Given the description of an element on the screen output the (x, y) to click on. 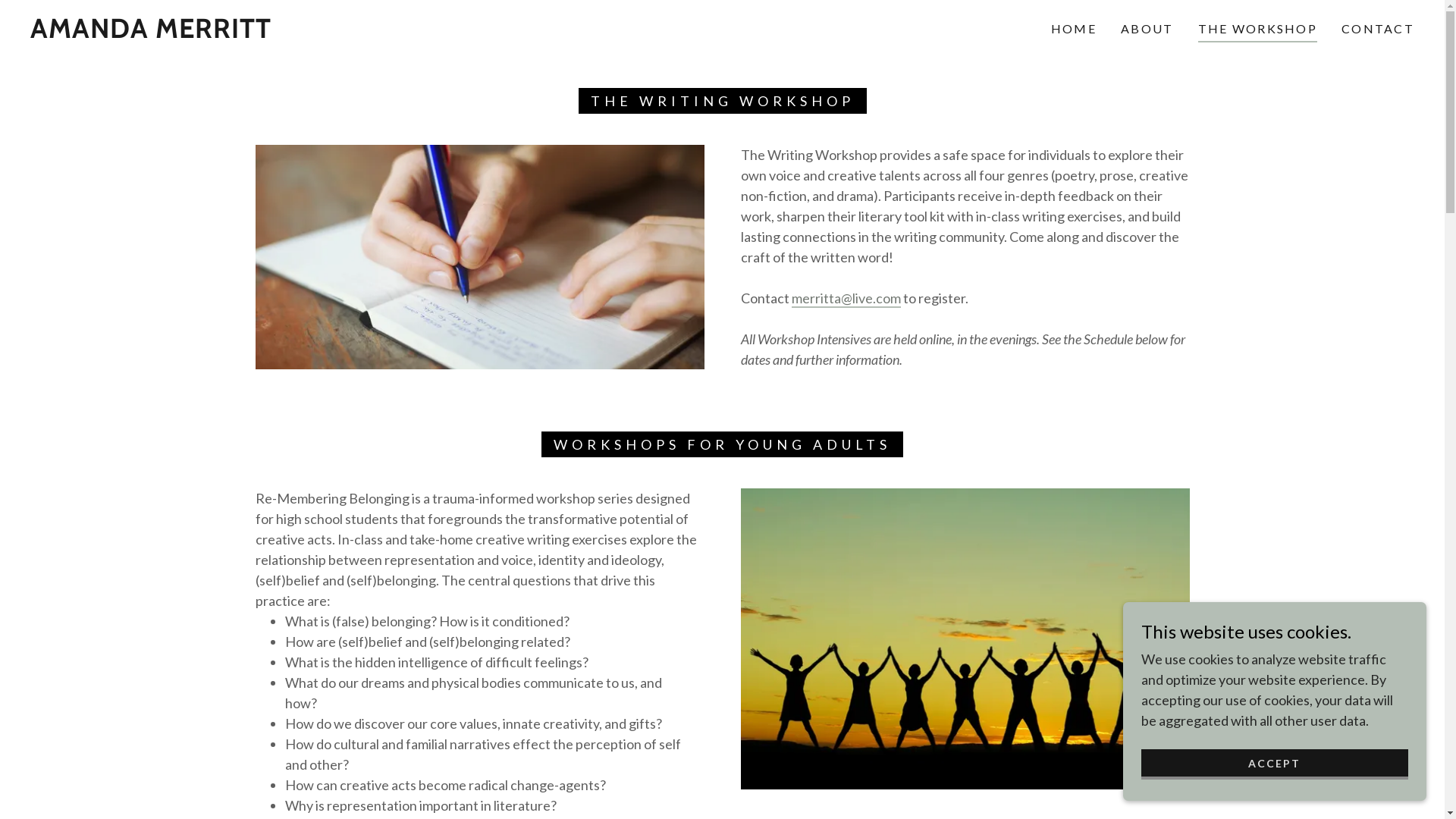
ABOUT Element type: text (1146, 28)
HOME Element type: text (1073, 28)
CONTACT Element type: text (1377, 28)
THE WORKSHOP Element type: text (1257, 30)
AMANDA MERRITT Element type: text (150, 32)
merritta@live.com Element type: text (845, 298)
ACCEPT Element type: text (1274, 764)
